Given the description of an element on the screen output the (x, y) to click on. 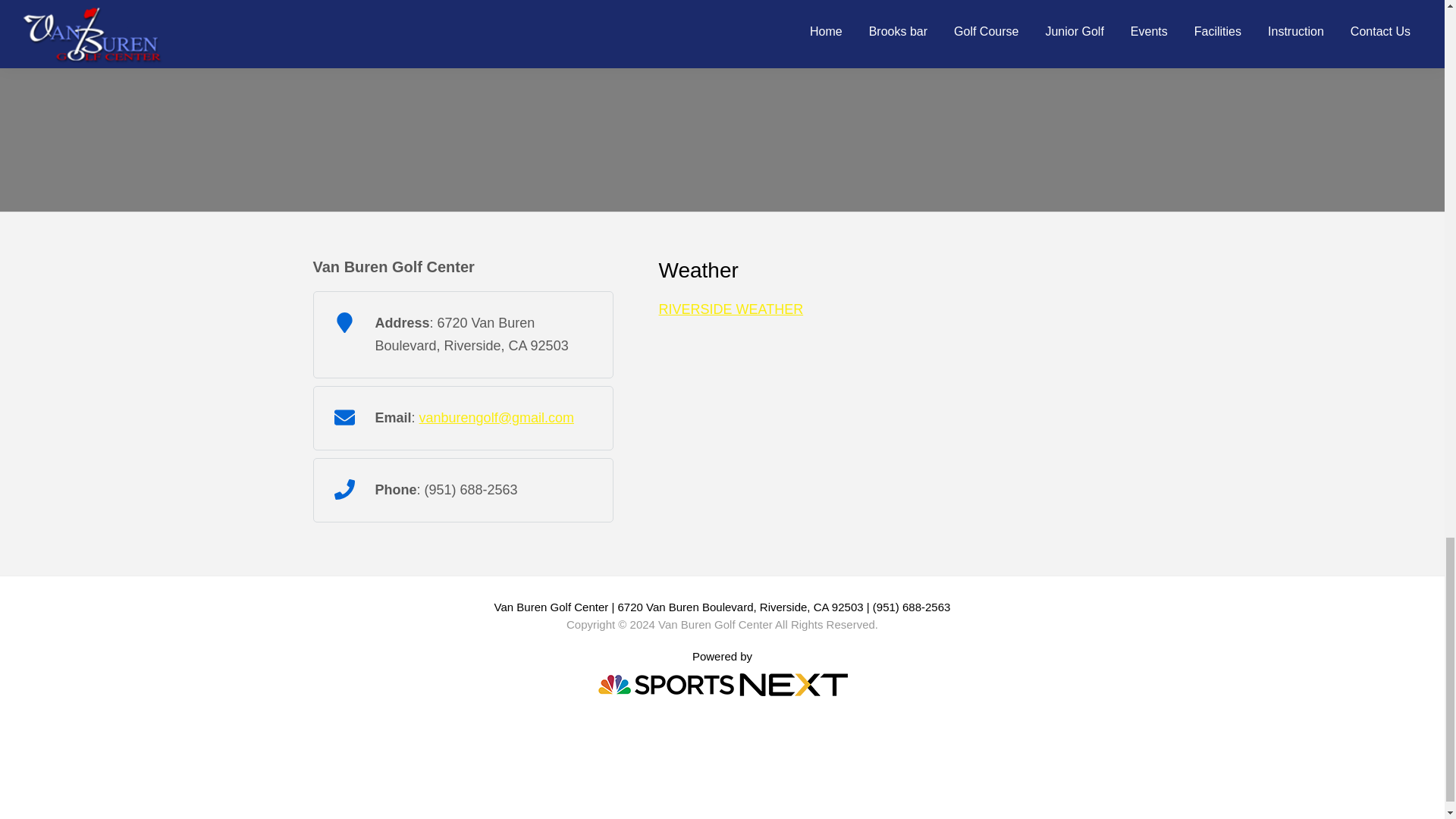
RIVERSIDE WEATHER (730, 309)
